Given the description of an element on the screen output the (x, y) to click on. 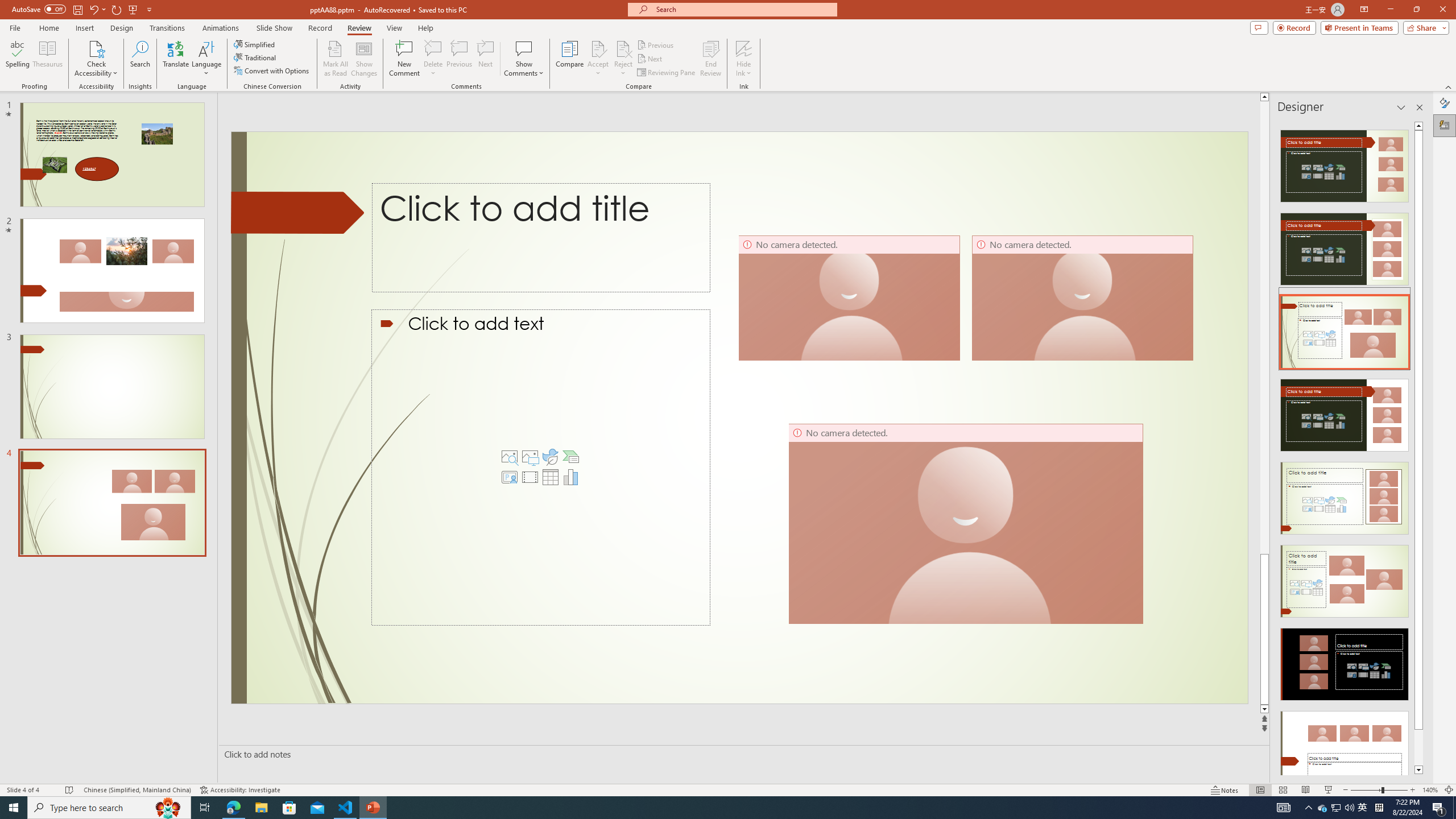
Show Changes (363, 58)
Insert Chart (570, 477)
Stock Images (509, 456)
Insert Cameo (509, 477)
Class: NetUIScrollBar (1418, 447)
Title TextBox (574, 229)
Compare (569, 58)
Accept Change (598, 48)
